Given the description of an element on the screen output the (x, y) to click on. 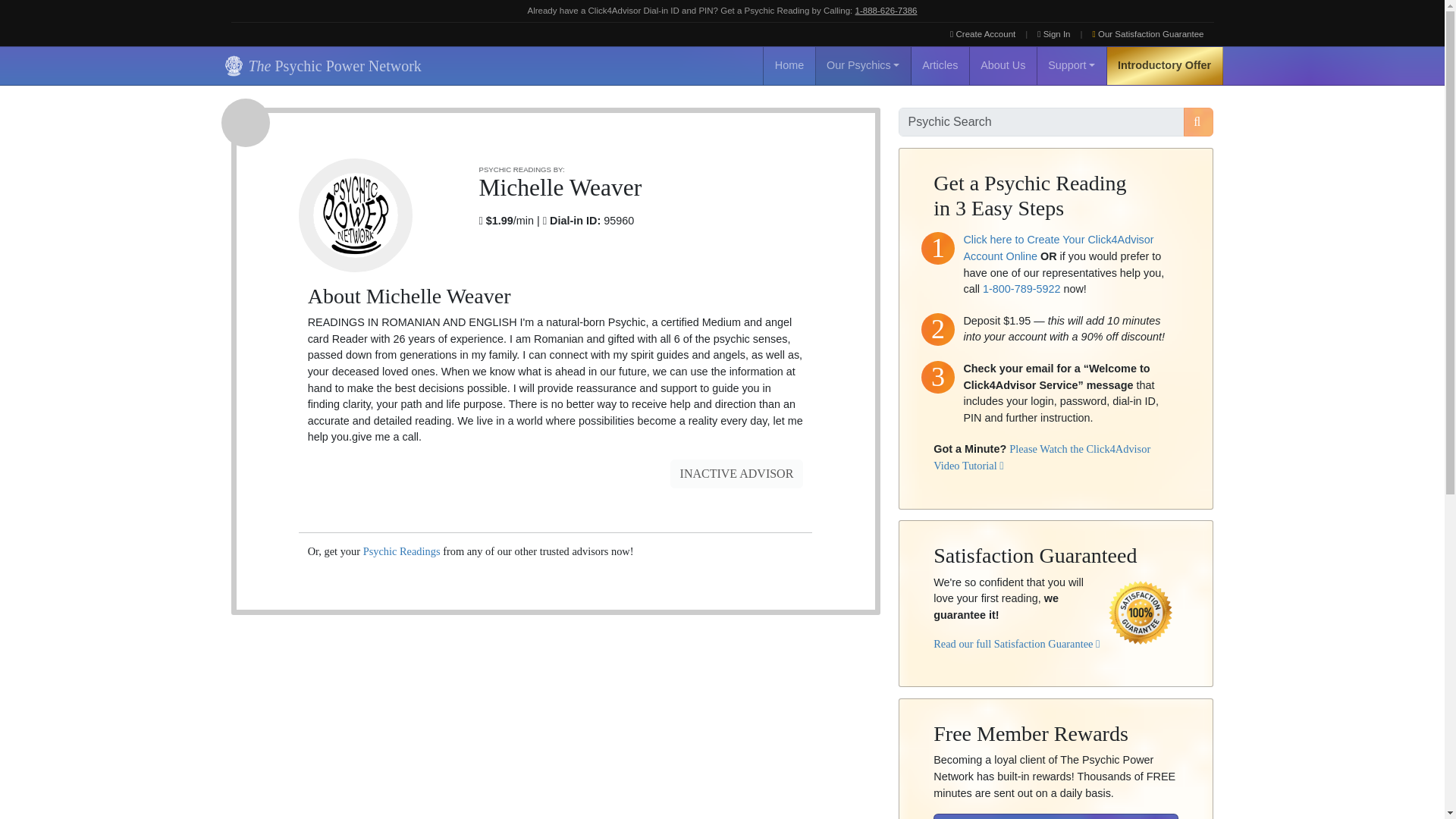
Create Account (982, 33)
Psychic Readings (401, 551)
Click Here for Details (1055, 816)
Sign In (1053, 33)
The Psychic Power Network (320, 65)
Please Watch the Click4Advisor Video Tutorial  (1041, 457)
Our Satisfaction Guarantee (1148, 33)
Articles (940, 65)
Home (788, 65)
Our Psychics (863, 65)
Psychic Readings (401, 551)
Introductory Offer (1164, 65)
Read our full Satisfaction Guarantee  (1016, 644)
Support (1071, 65)
The Psychic Power Network (320, 65)
